Given the description of an element on the screen output the (x, y) to click on. 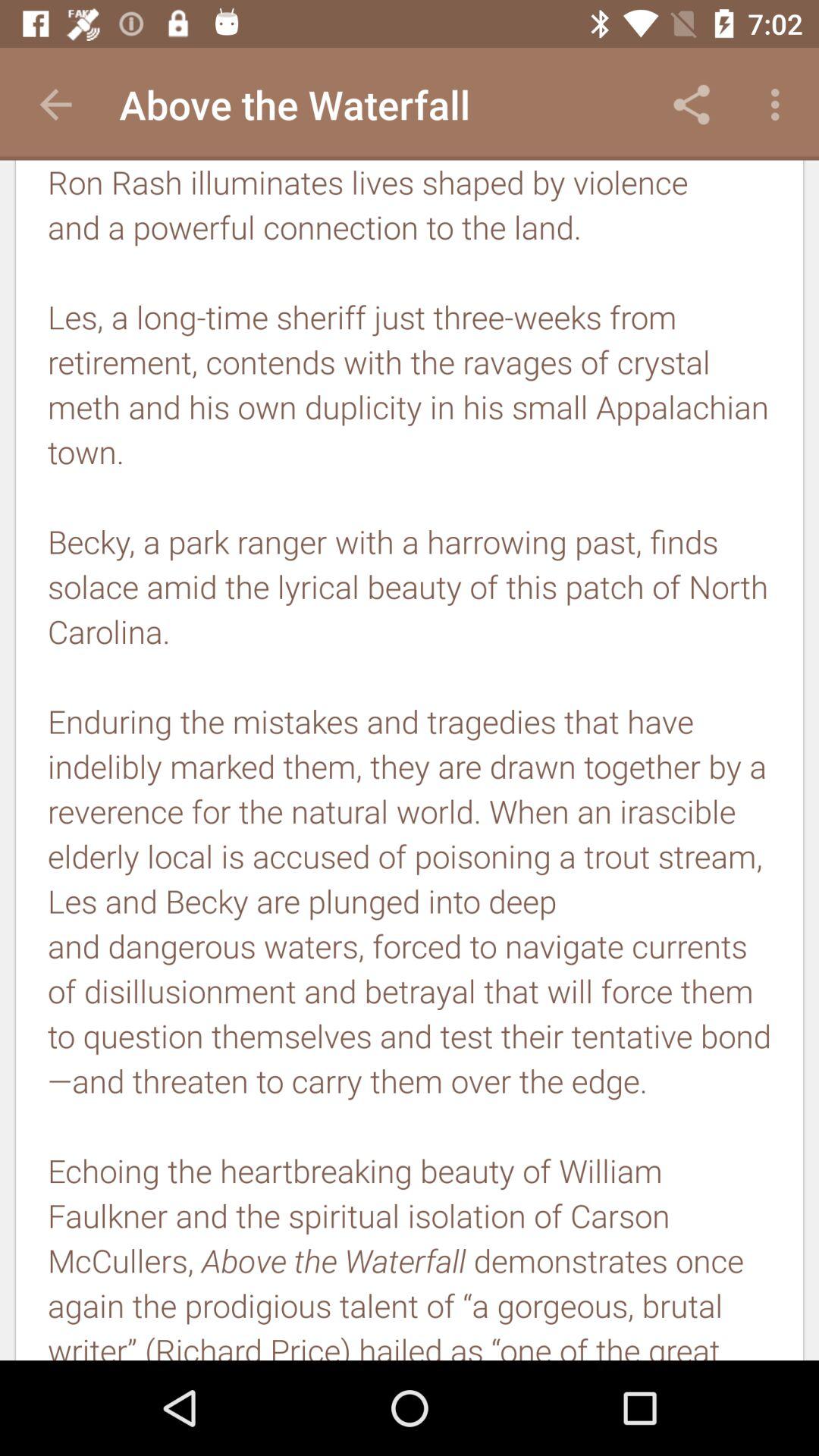
click the app to the left of above the waterfall app (55, 104)
